Given the description of an element on the screen output the (x, y) to click on. 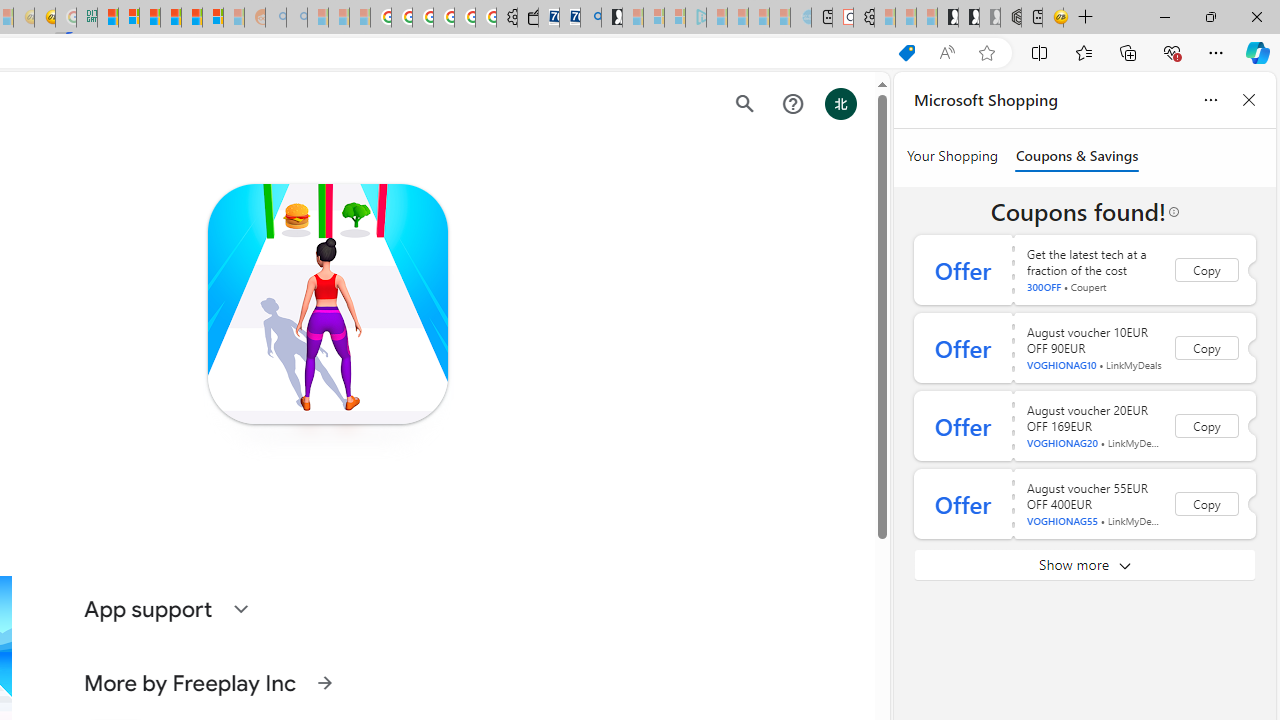
New tab (1031, 17)
Expert Portfolios (170, 17)
Copilot (Ctrl+Shift+.) (1258, 52)
Play Free Online Games | Games from Microsoft Start (947, 17)
Microsoft account | Privacy - Sleeping (674, 17)
See more information on More by Freeplay Inc (324, 682)
Minimize (1164, 16)
